Given the description of an element on the screen output the (x, y) to click on. 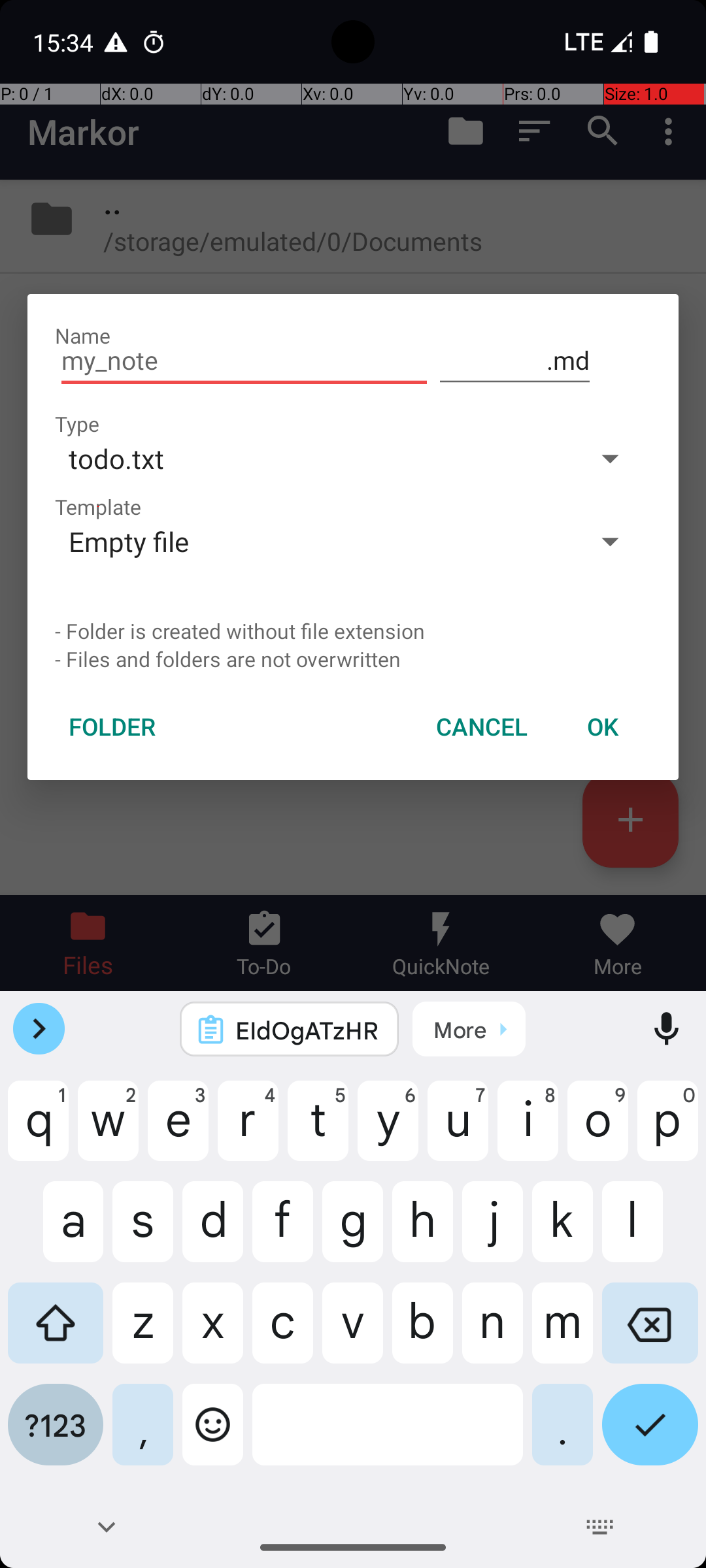
my_note Element type: android.widget.EditText (243, 360)
.md Element type: android.widget.EditText (514, 360)
Type Element type: android.widget.TextView (76, 423)
Template Element type: android.widget.TextView (97, 506)
- Folder is created without file extension Element type: android.widget.TextView (352, 630)
- Files and folders are not overwritten Element type: android.widget.TextView (352, 658)
FOLDER Element type: android.widget.Button (111, 726)
todo.txt Element type: android.widget.TextView (311, 457)
Empty file Element type: android.widget.TextView (311, 540)
EIdOgATzHR Element type: android.widget.TextView (306, 1029)
